Given the description of an element on the screen output the (x, y) to click on. 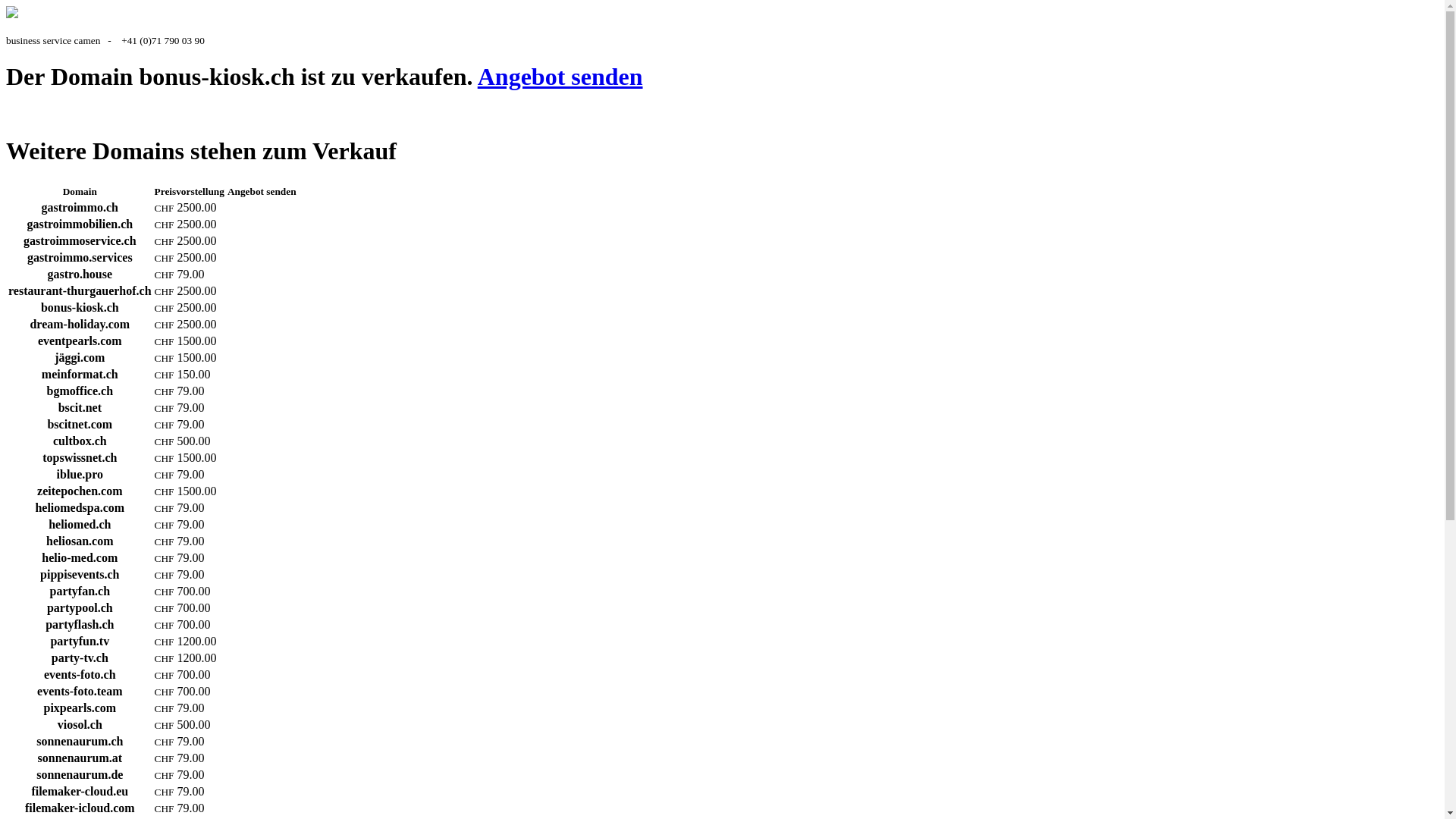
Angebot senden Element type: text (560, 76)
